Given the description of an element on the screen output the (x, y) to click on. 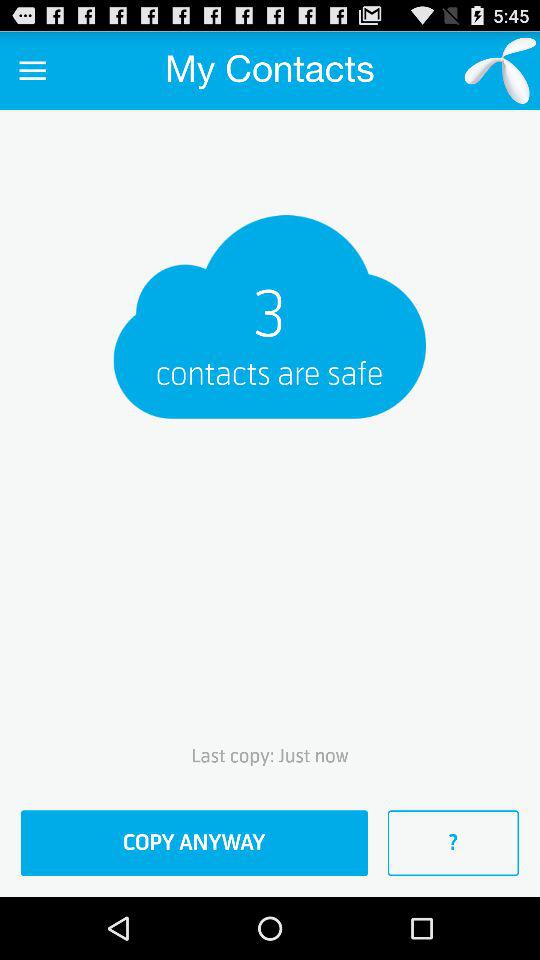
scroll until ?  item (453, 843)
